Given the description of an element on the screen output the (x, y) to click on. 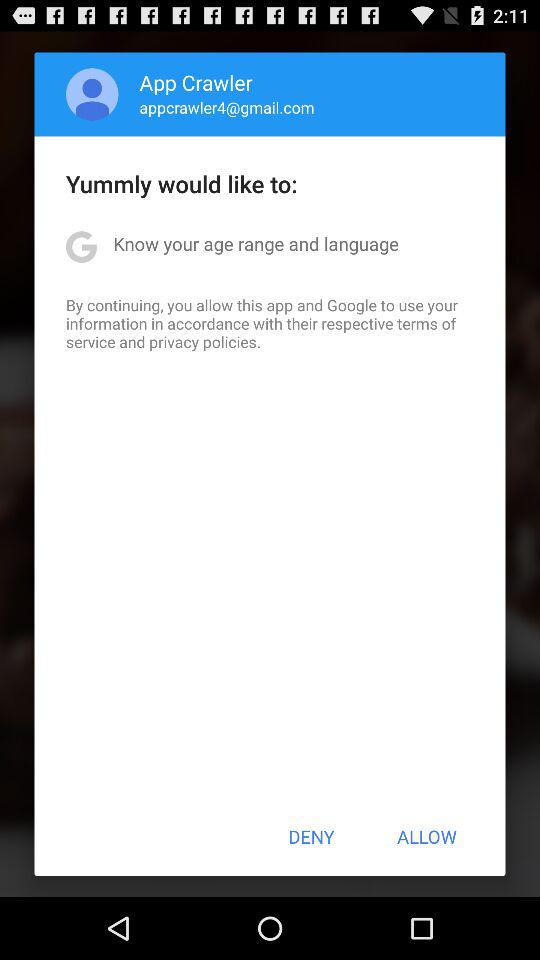
launch the icon to the left of allow button (311, 836)
